Given the description of an element on the screen output the (x, y) to click on. 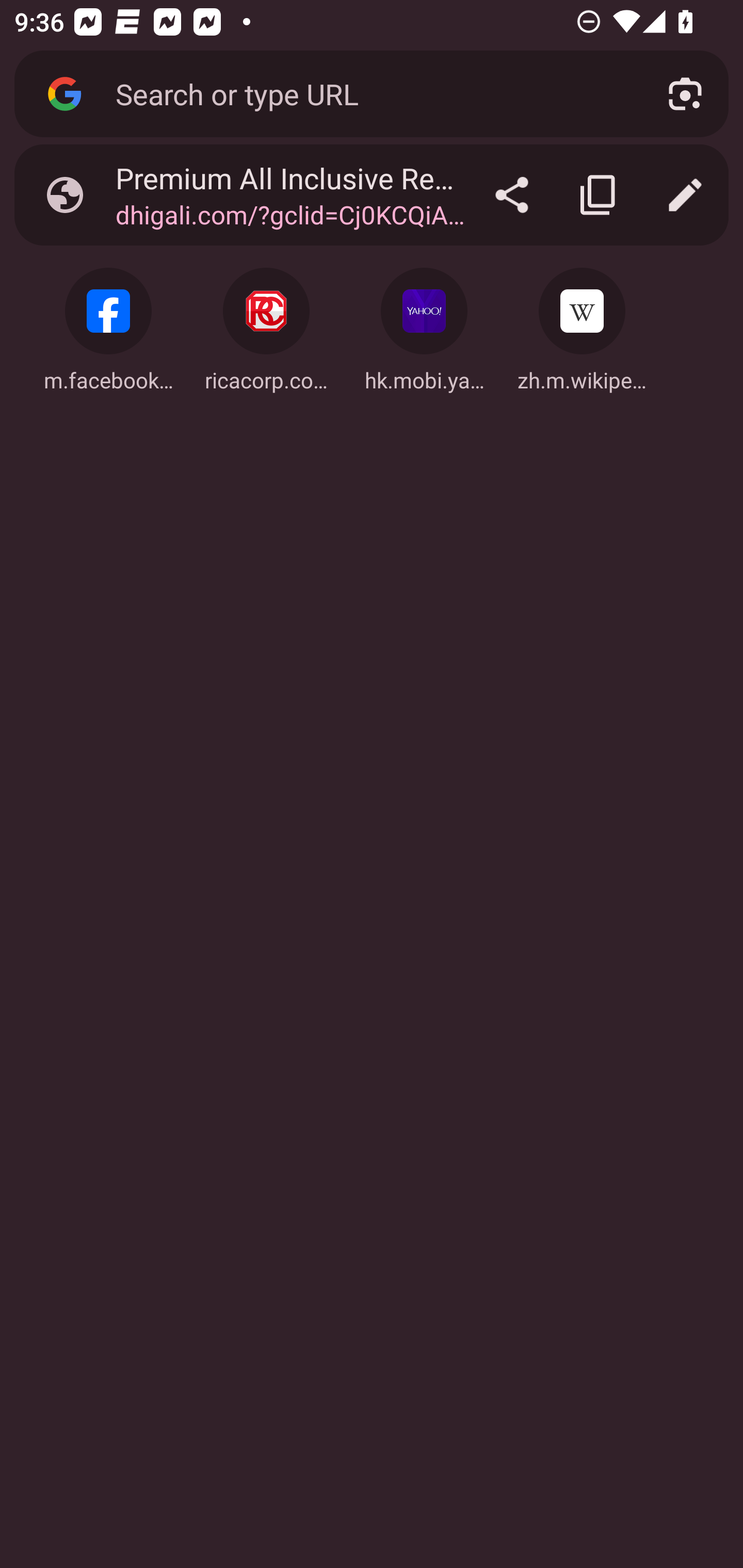
Search with your camera using Google Lens (684, 93)
Search or type URL (367, 92)
Share… (511, 195)
Copy link (598, 195)
Edit (684, 195)
